Given the description of an element on the screen output the (x, y) to click on. 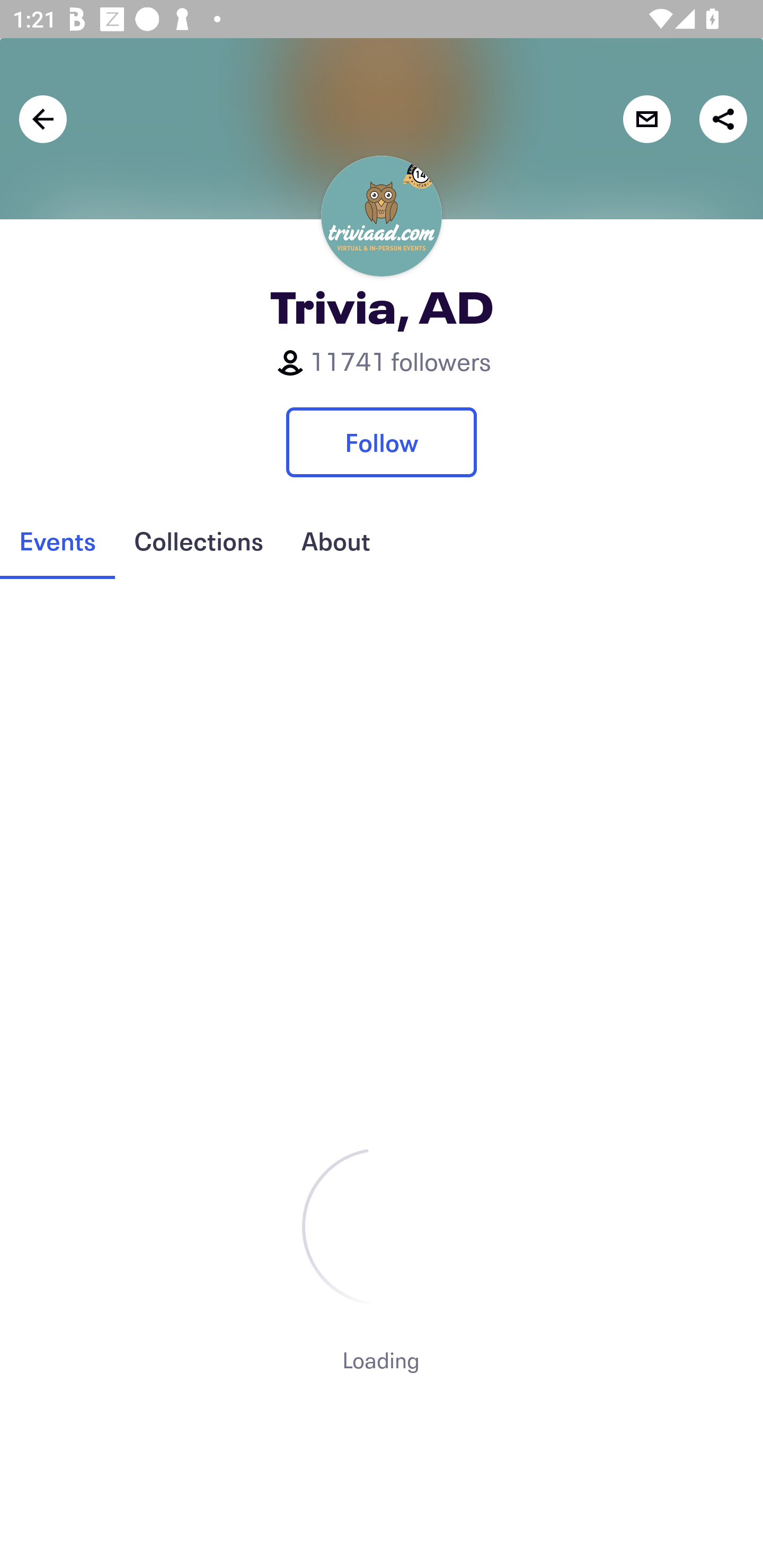
Back navigation arrow (43, 118)
Contact organizer (646, 118)
Share with friends (722, 118)
Follow (381, 441)
Collections (198, 540)
About (335, 540)
